Given the description of an element on the screen output the (x, y) to click on. 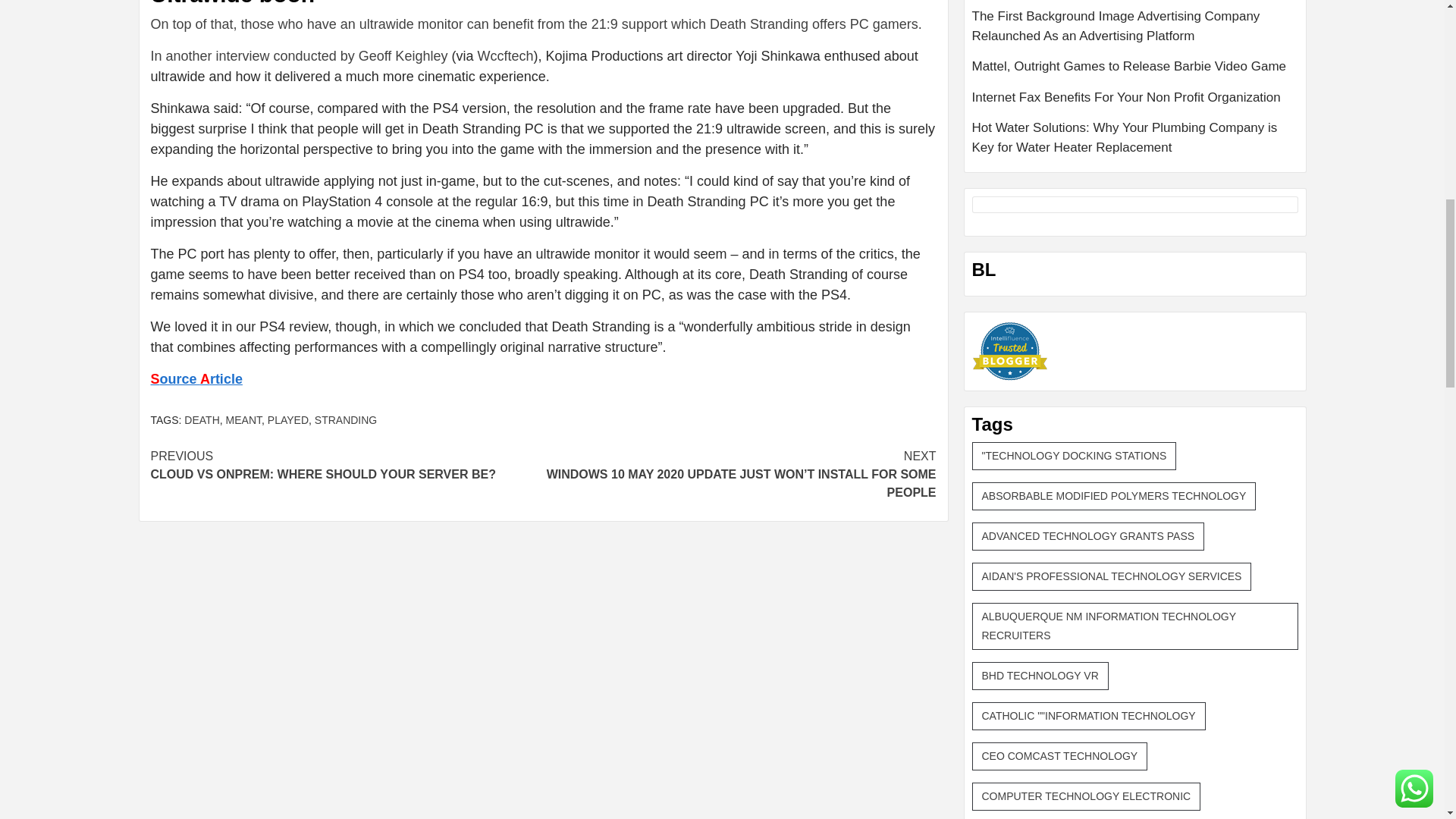
DEATH (201, 419)
Wccftech (504, 55)
STRANDING (345, 419)
Geoff Keighley (403, 55)
In another interview conducted by (253, 55)
Source Article (195, 378)
PLAYED (346, 465)
MEANT (287, 419)
